Given the description of an element on the screen output the (x, y) to click on. 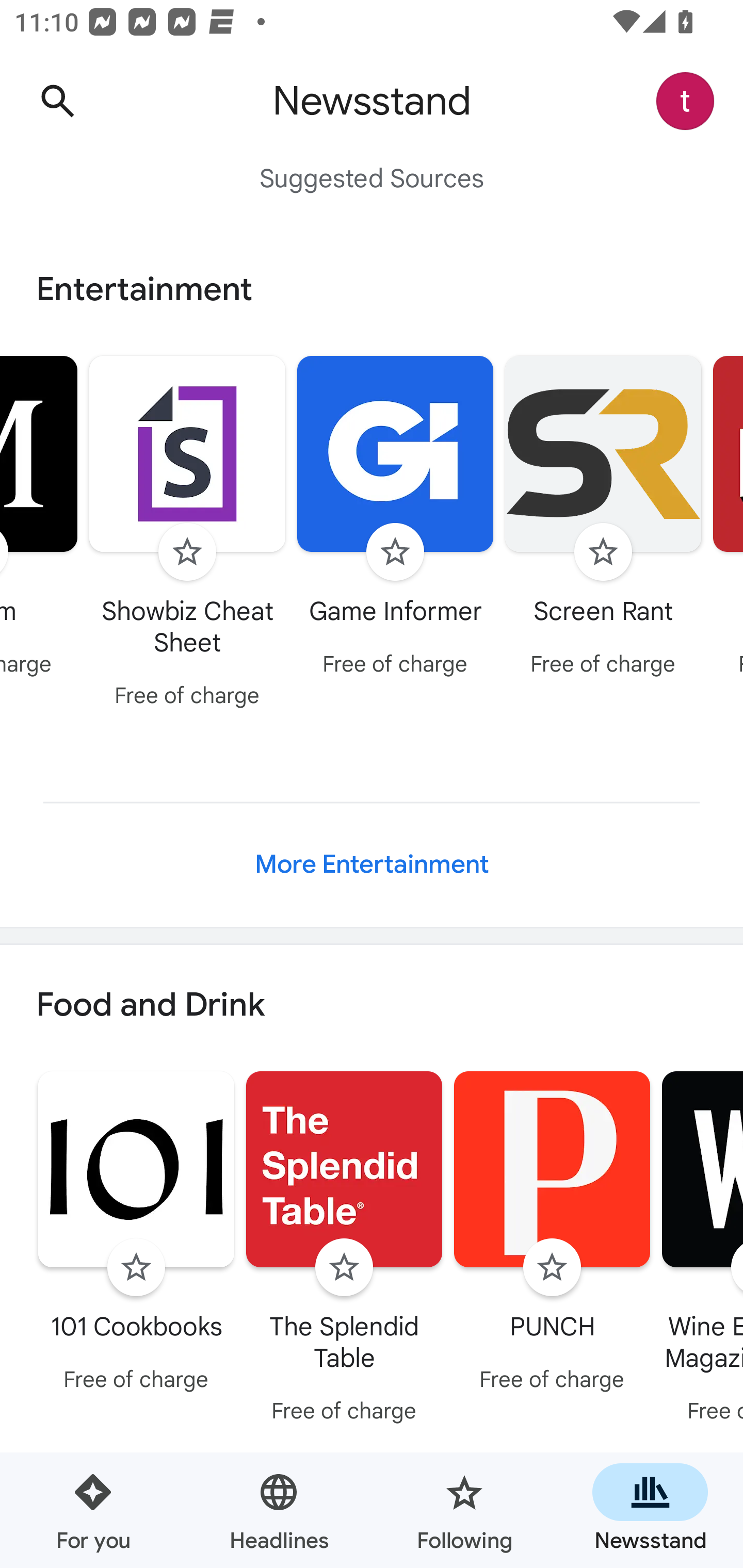
Search (57, 100)
Entertainment (371, 288)
Follow Showbiz Cheat Sheet Free of charge (187, 534)
Follow Game Informer Free of charge (395, 517)
Follow Screen Rant Free of charge (603, 517)
Follow (187, 551)
Follow (395, 551)
Follow (603, 551)
More Entertainment (371, 864)
Food and Drink (371, 1005)
Follow 101 Cookbooks Free of charge (136, 1234)
Follow The Splendid Table Free of charge (344, 1250)
Follow PUNCH Free of charge (552, 1234)
Follow (135, 1267)
Follow (343, 1267)
Follow (552, 1267)
For you (92, 1509)
Headlines (278, 1509)
Following (464, 1509)
Newsstand (650, 1509)
